Given the description of an element on the screen output the (x, y) to click on. 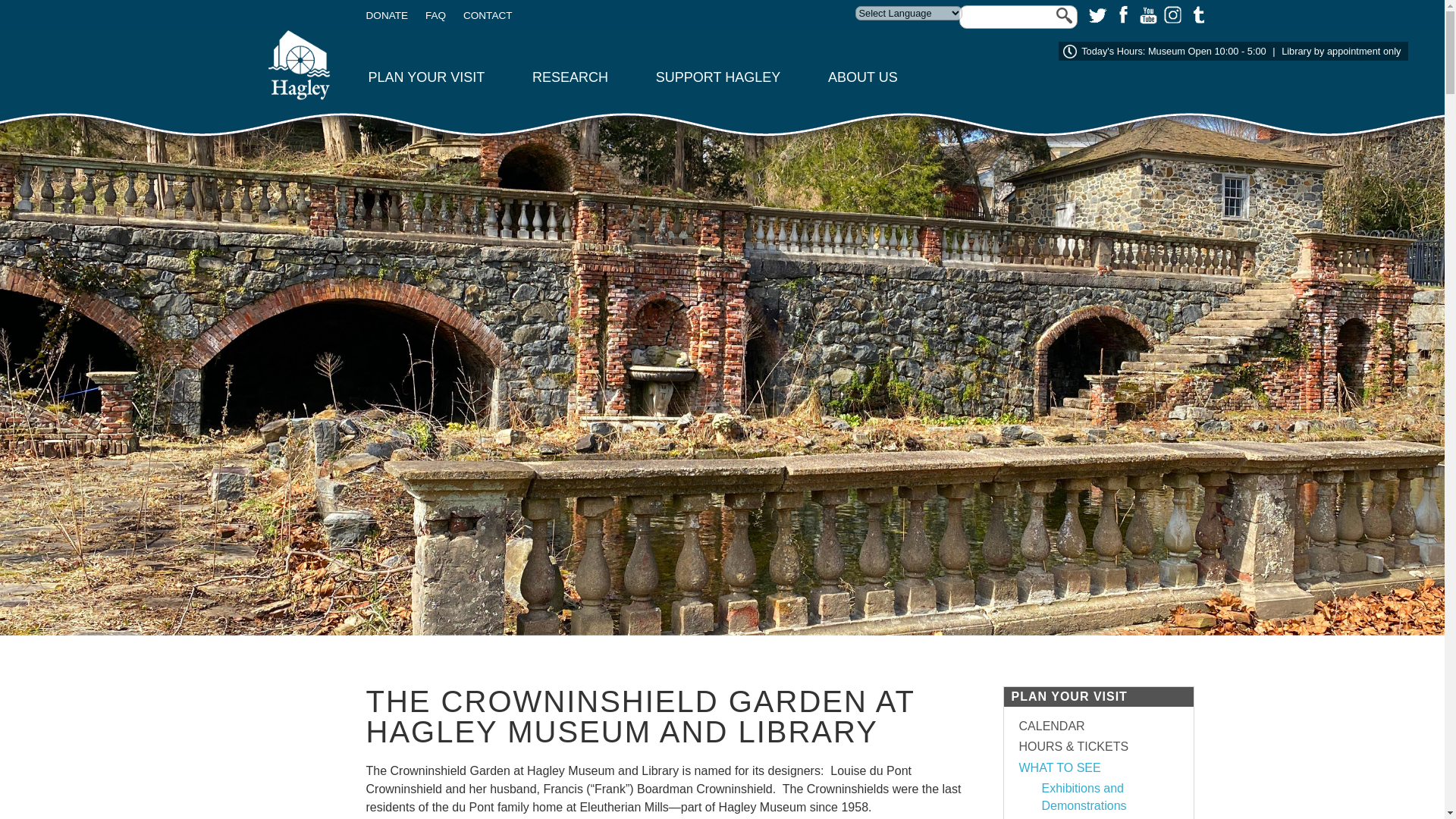
Facebook (1120, 13)
PLAN YOUR VISIT (426, 77)
RESEARCH (570, 77)
Tumblr (1196, 13)
Tumblr (1196, 13)
SUPPORT HAGLEY (718, 77)
YouTube (1146, 13)
YouTube (1146, 13)
Skip to main content (34, 0)
CONTACT (487, 15)
Instagram (1171, 13)
Facebook (1120, 13)
Instagram (1171, 13)
Enter the terms you wish to search for. (1018, 16)
DONATE (386, 15)
